Given the description of an element on the screen output the (x, y) to click on. 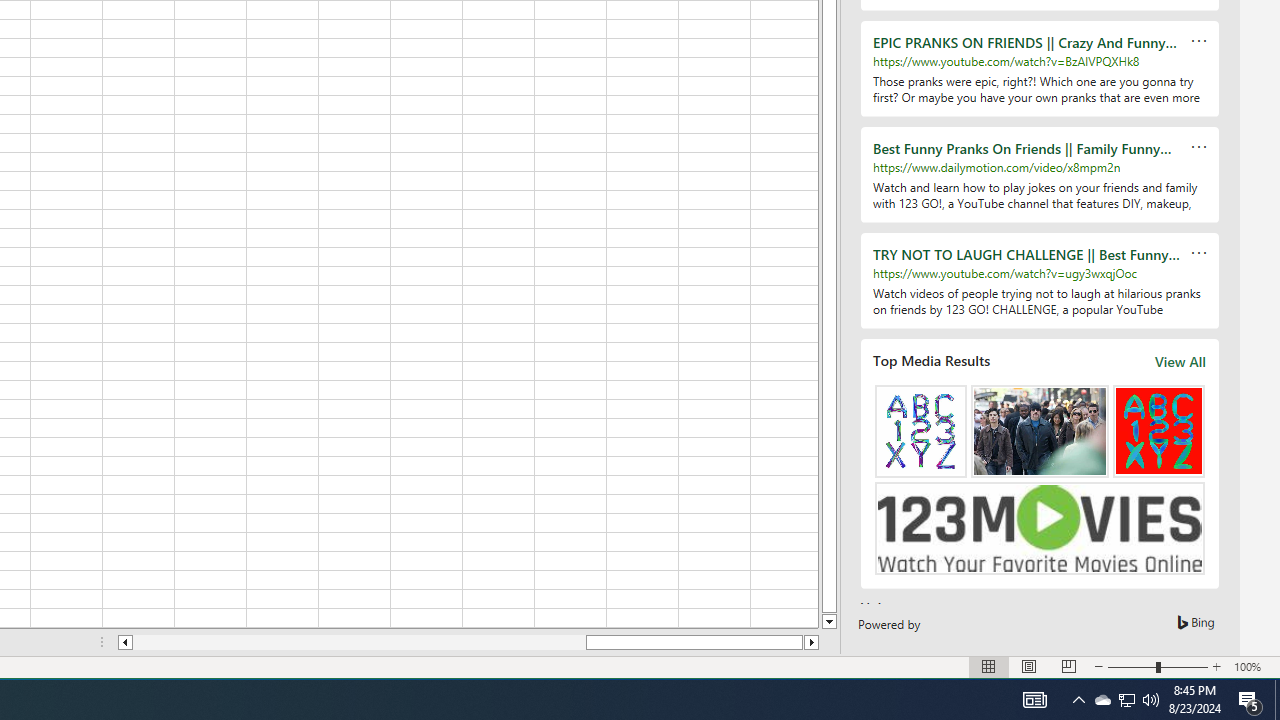
Page Layout (1028, 667)
Q2790: 100% (1151, 699)
Normal (1126, 699)
Class: NetUIScrollBar (988, 667)
